Given the description of an element on the screen output the (x, y) to click on. 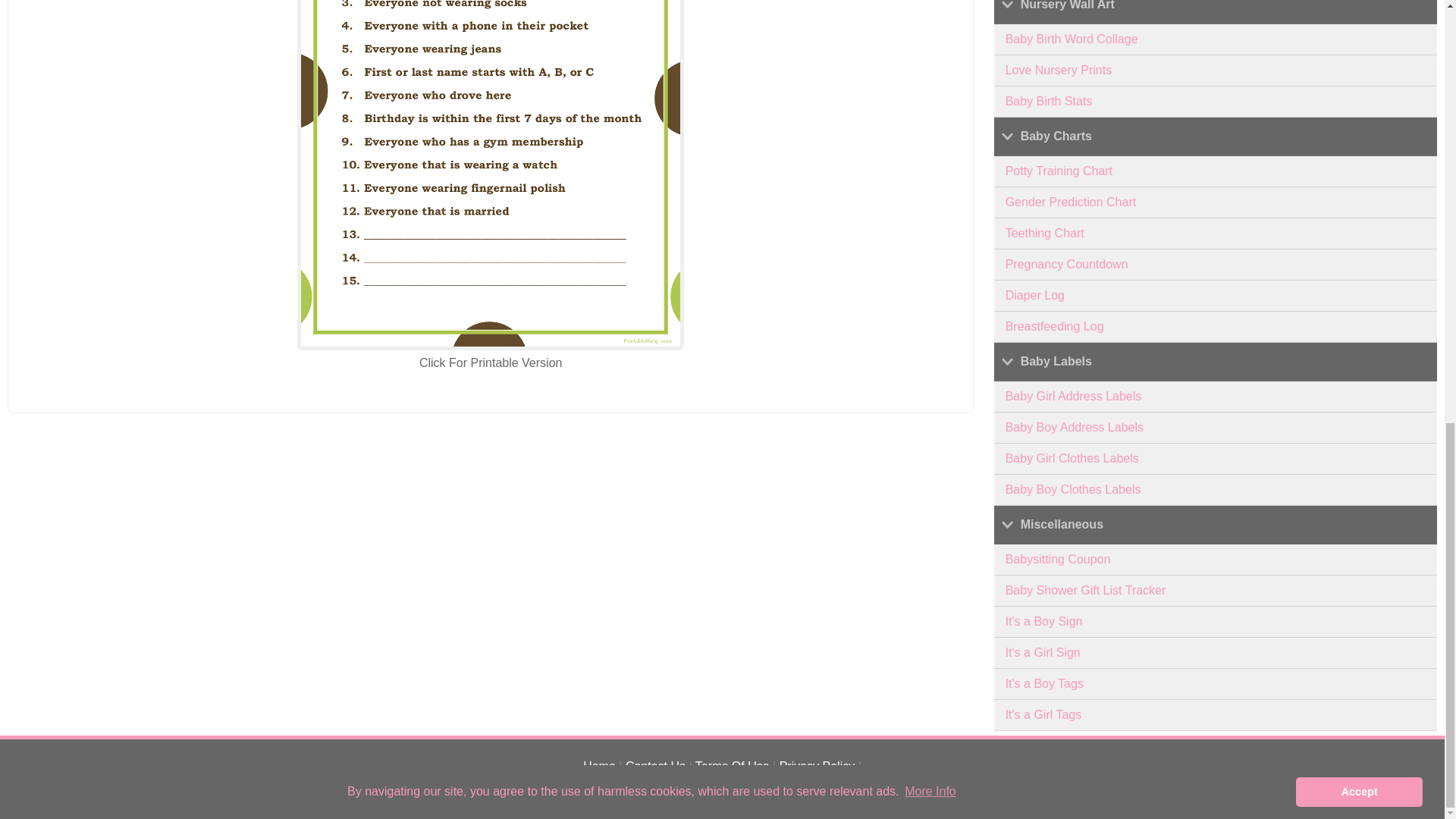
It's a Boy Tags (1215, 684)
Baby Shower Gift List Tracker (1215, 590)
Click For Printable Version (490, 362)
It's a Girl Sign (1215, 653)
Pregnancy Countdown (1215, 264)
It's a Boy Sign (1215, 622)
Diaper Log (1215, 296)
Babysitting Coupon (1215, 559)
It's a Girl Tags (1215, 715)
Baby Birth Stats (1215, 101)
Baby Boy Address Labels (1215, 427)
Love Nursery Prints (1215, 70)
Baby Birth Word Collage (1215, 39)
Baby Girl Clothes Labels (1215, 459)
Gender Prediction Chart (1215, 202)
